Given the description of an element on the screen output the (x, y) to click on. 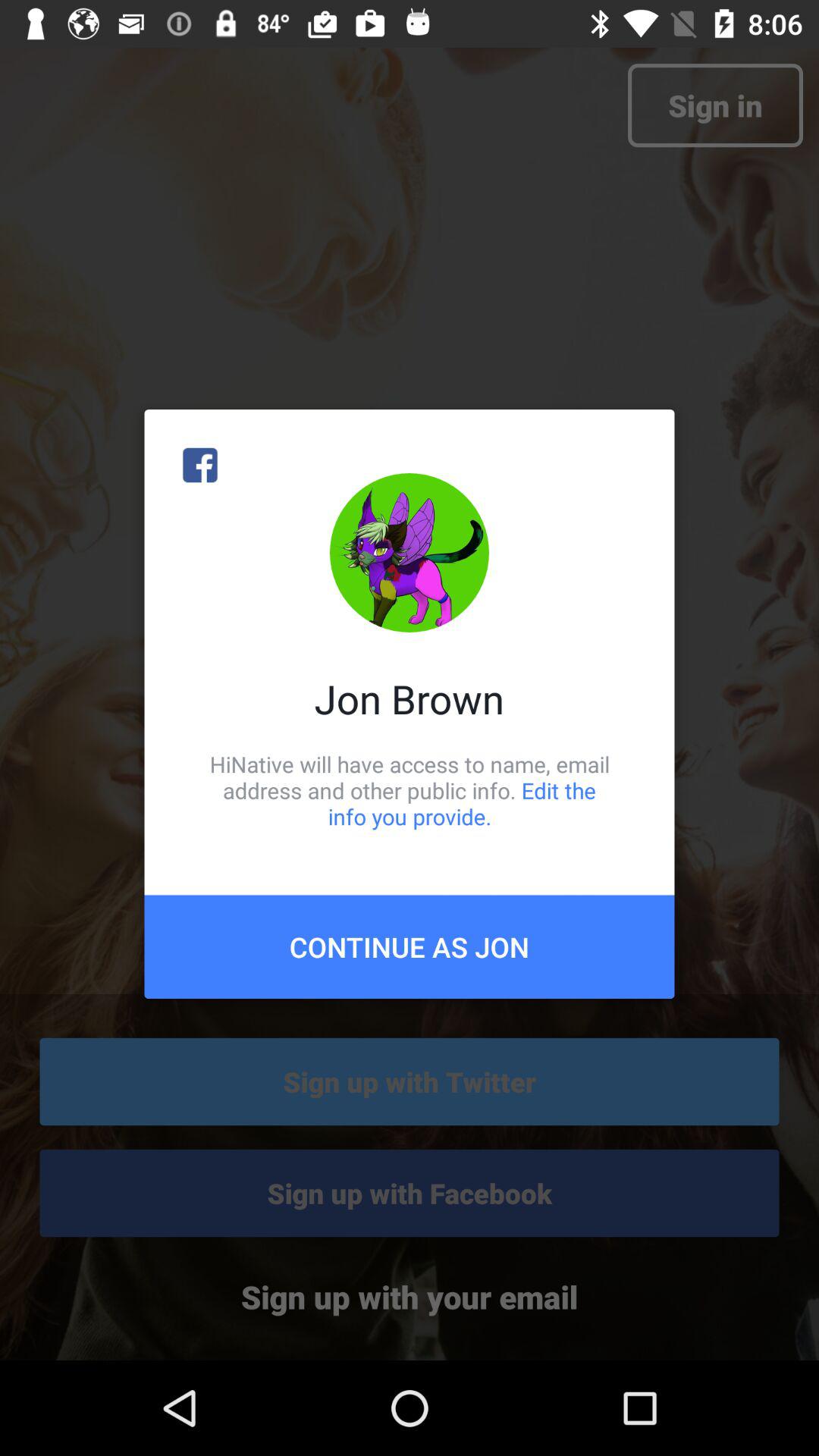
flip to hinative will have (409, 790)
